Given the description of an element on the screen output the (x, y) to click on. 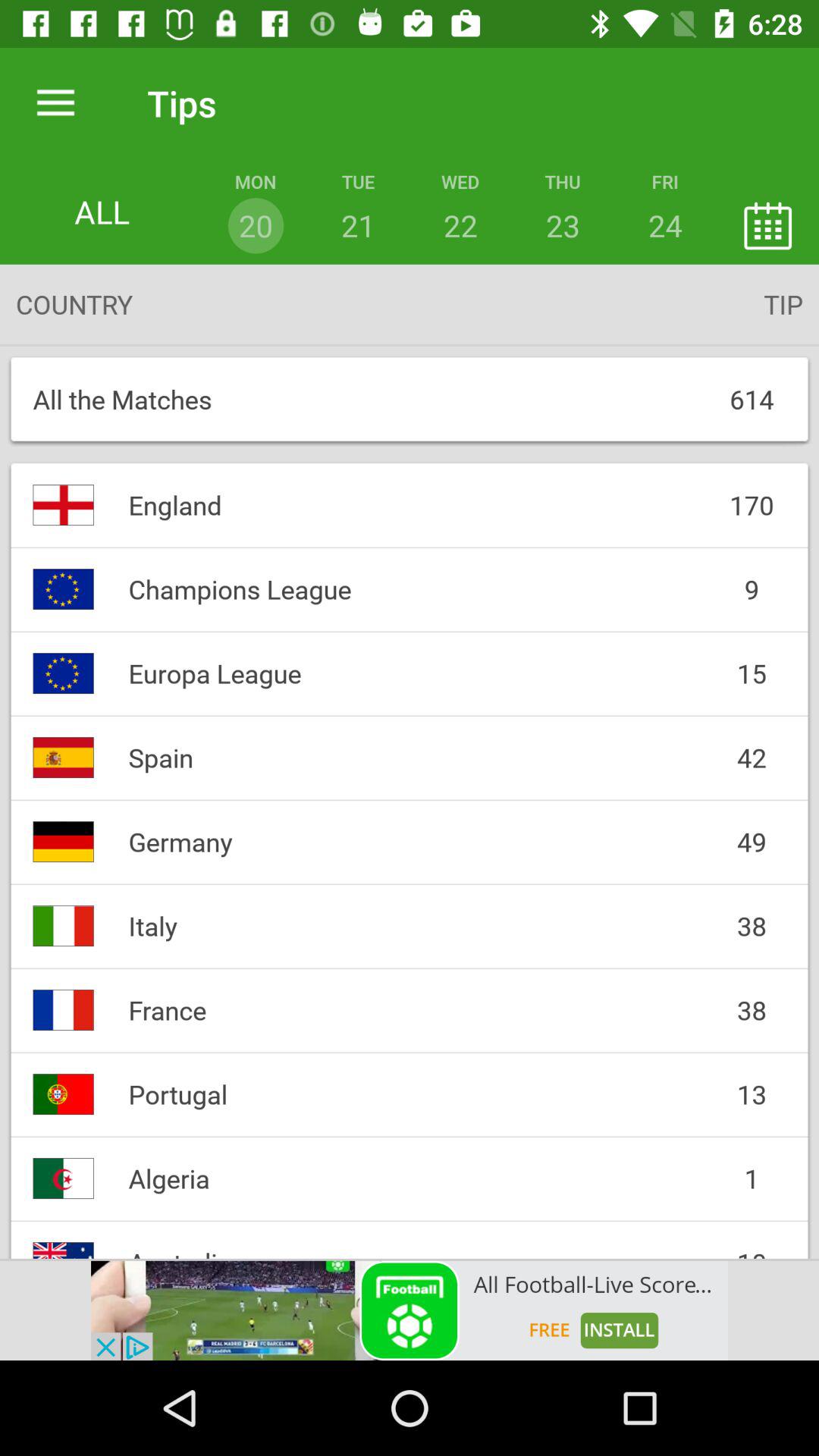
tap on advertisement (409, 1310)
